Given the description of an element on the screen output the (x, y) to click on. 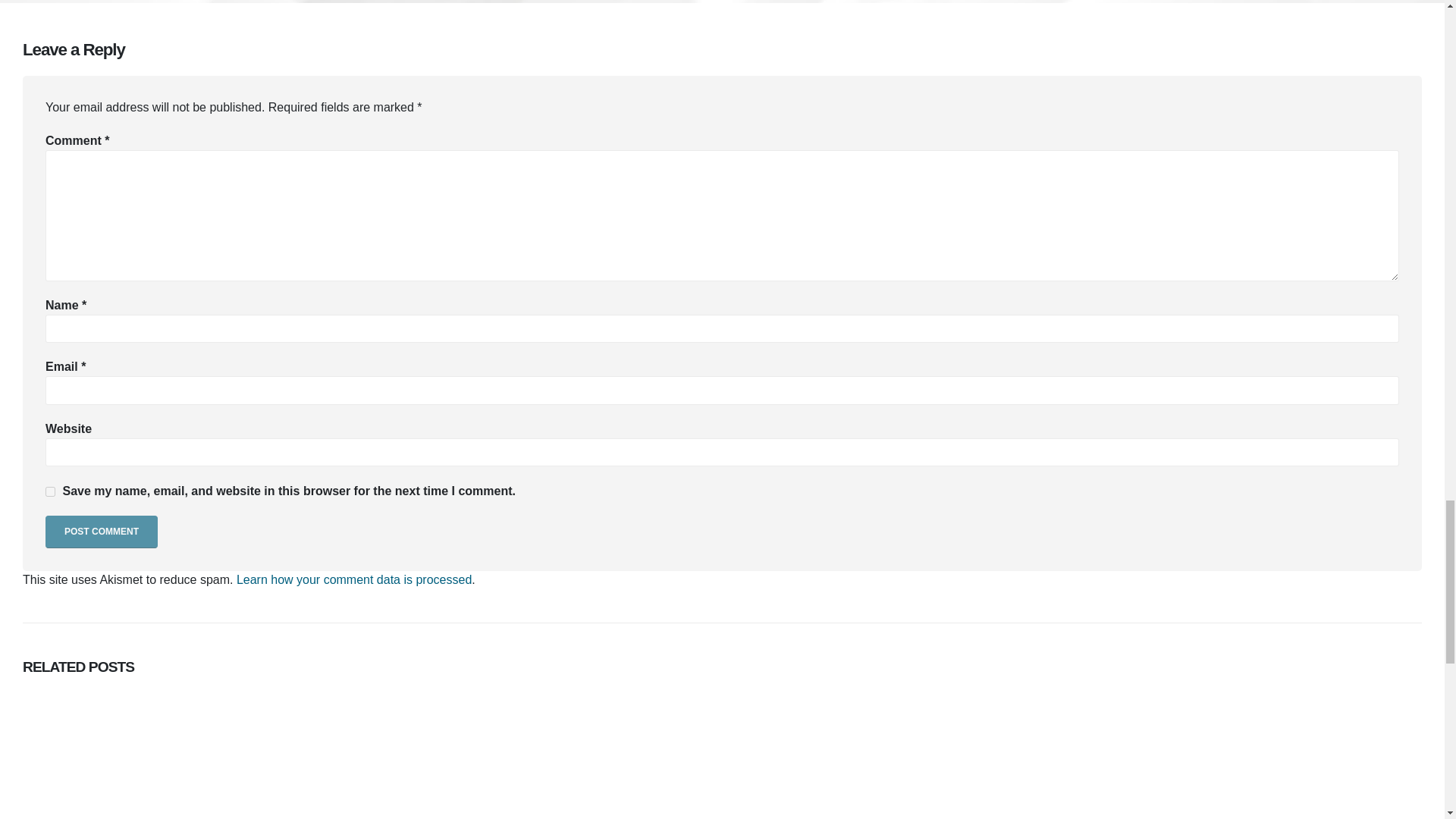
Post Comment (101, 531)
yes (50, 491)
